Given the description of an element on the screen output the (x, y) to click on. 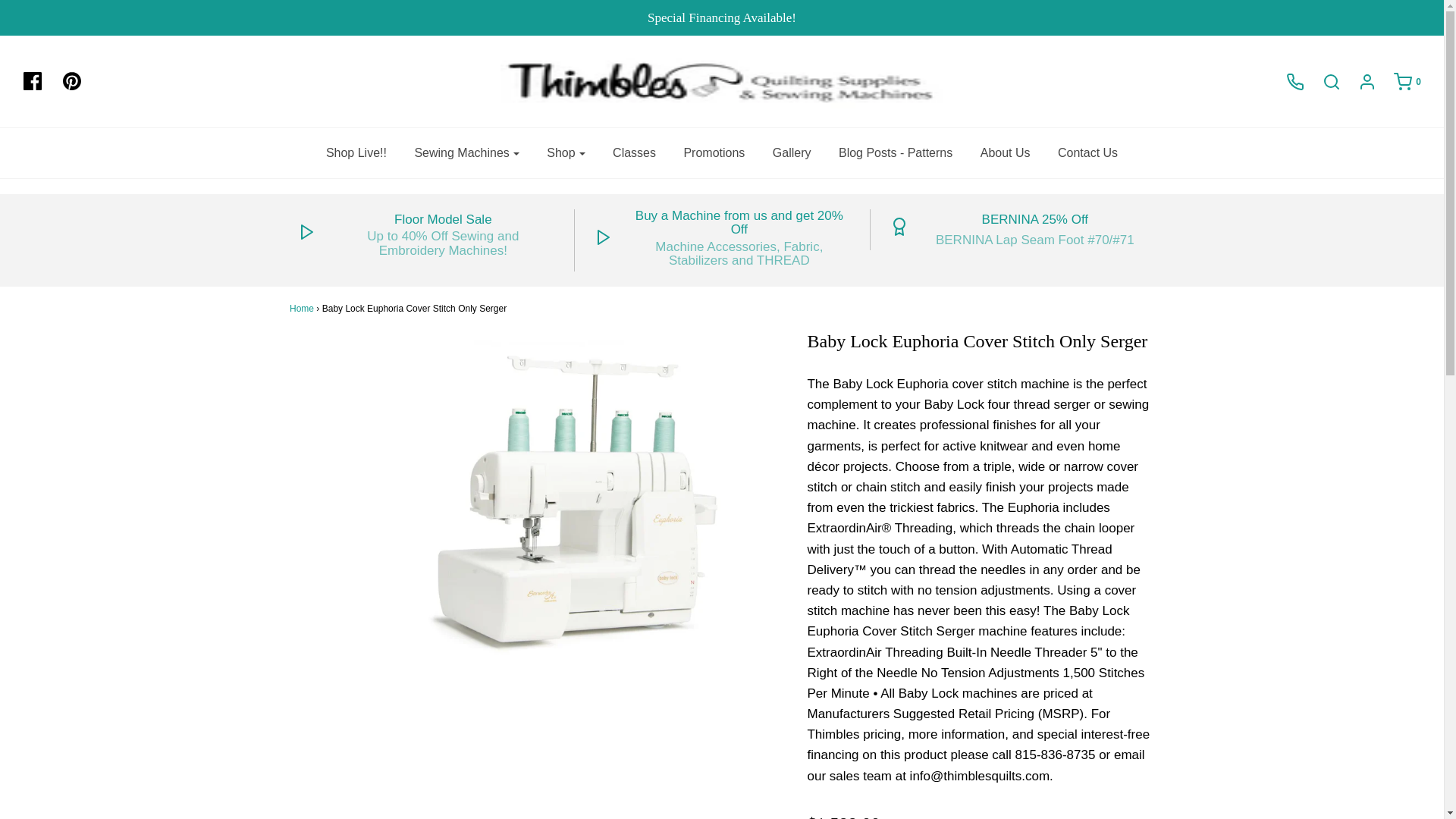
Floor Model Sale (442, 219)
Pinterest icon (79, 81)
Back to the frontpage (301, 308)
Log in (1358, 81)
Facebook icon (32, 81)
Gallery (791, 152)
Classes (633, 152)
Pinterest icon (71, 81)
Promotions (713, 152)
Shop Live!! (355, 152)
Sewing Machines (466, 152)
Search (1101, 4)
Cart (1399, 81)
Search (1323, 81)
Special Financing Available! (722, 17)
